Given the description of an element on the screen output the (x, y) to click on. 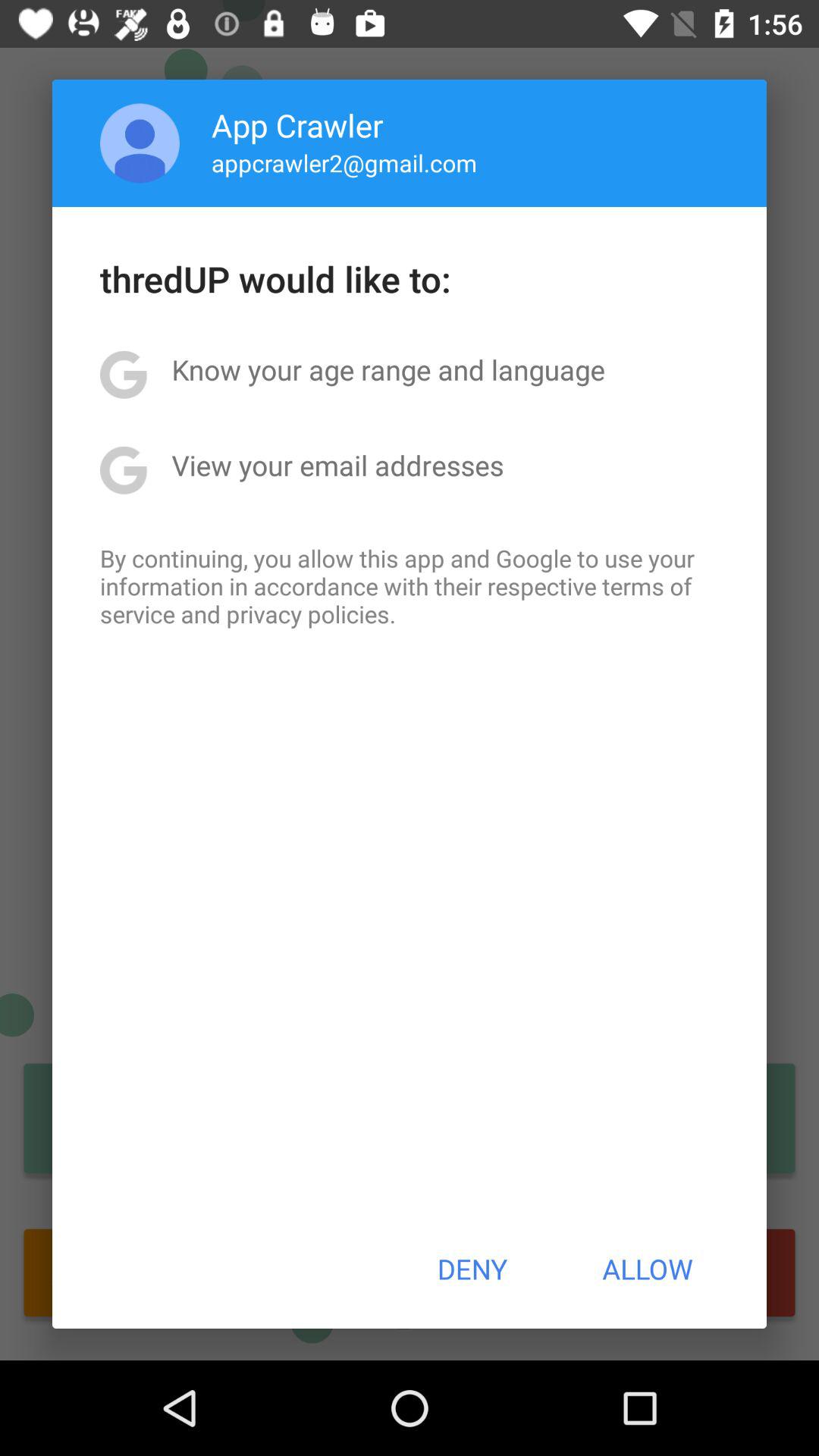
turn off the item to the left of the allow (471, 1268)
